Given the description of an element on the screen output the (x, y) to click on. 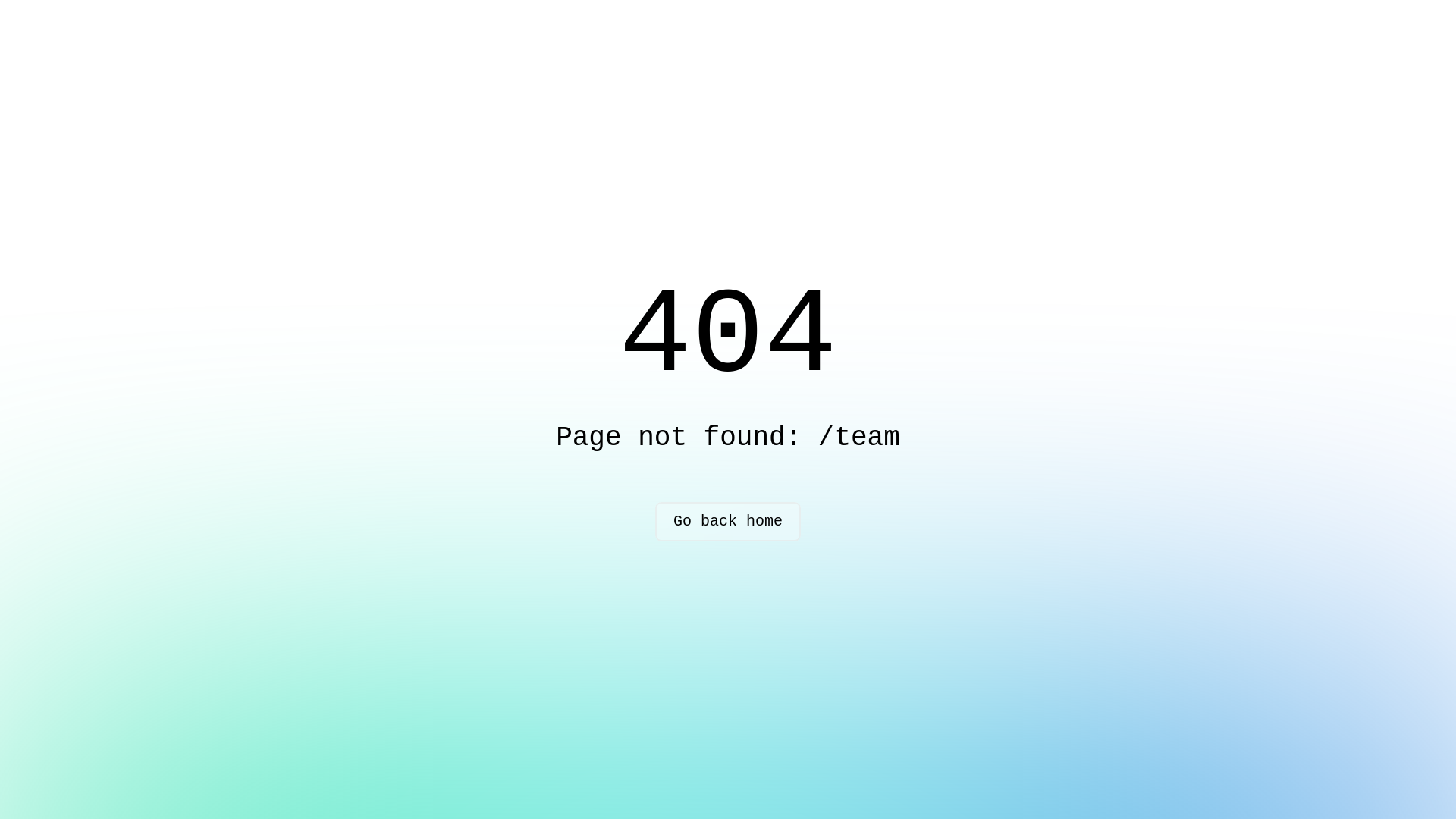
Go back home Element type: text (727, 521)
